Given the description of an element on the screen output the (x, y) to click on. 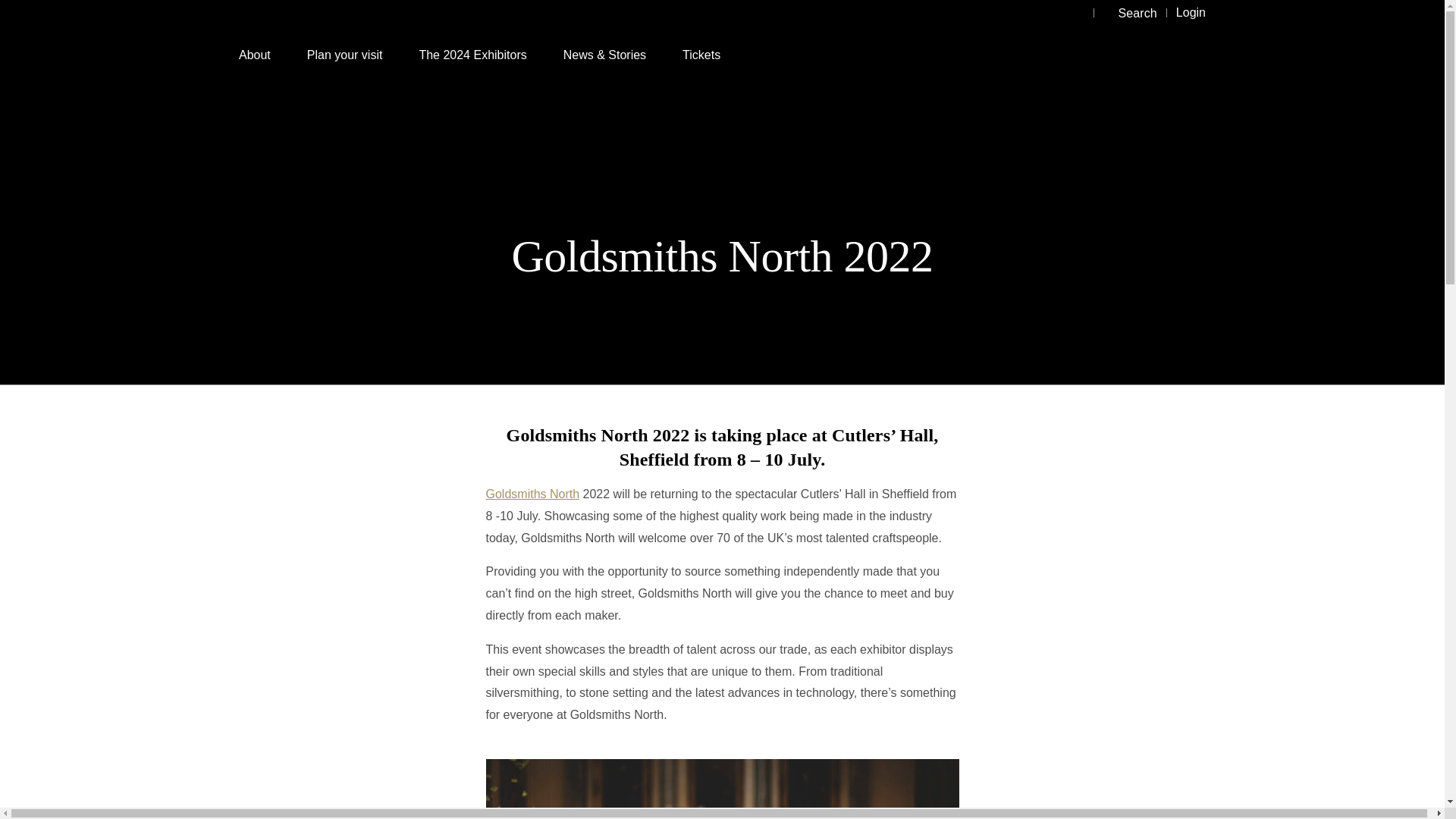
Login (1190, 12)
Plan your visit (344, 55)
Login (1190, 12)
About (254, 55)
Visit our Instagram profile (1078, 12)
Tickets (700, 55)
Goldsmiths North (531, 493)
Search (1129, 13)
The 2024 Exhibitors (472, 55)
